Given the description of an element on the screen output the (x, y) to click on. 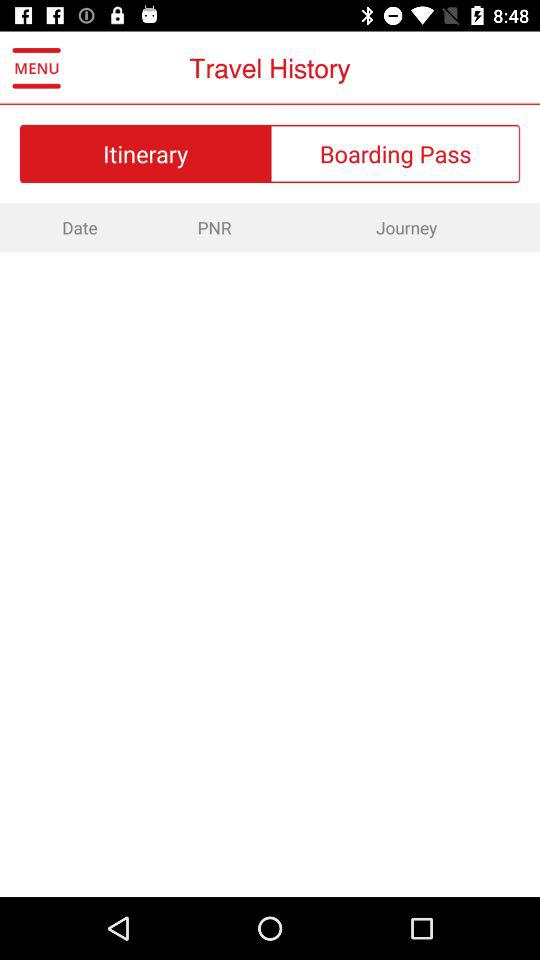
press the icon to the right of the  date icon (214, 227)
